Given the description of an element on the screen output the (x, y) to click on. 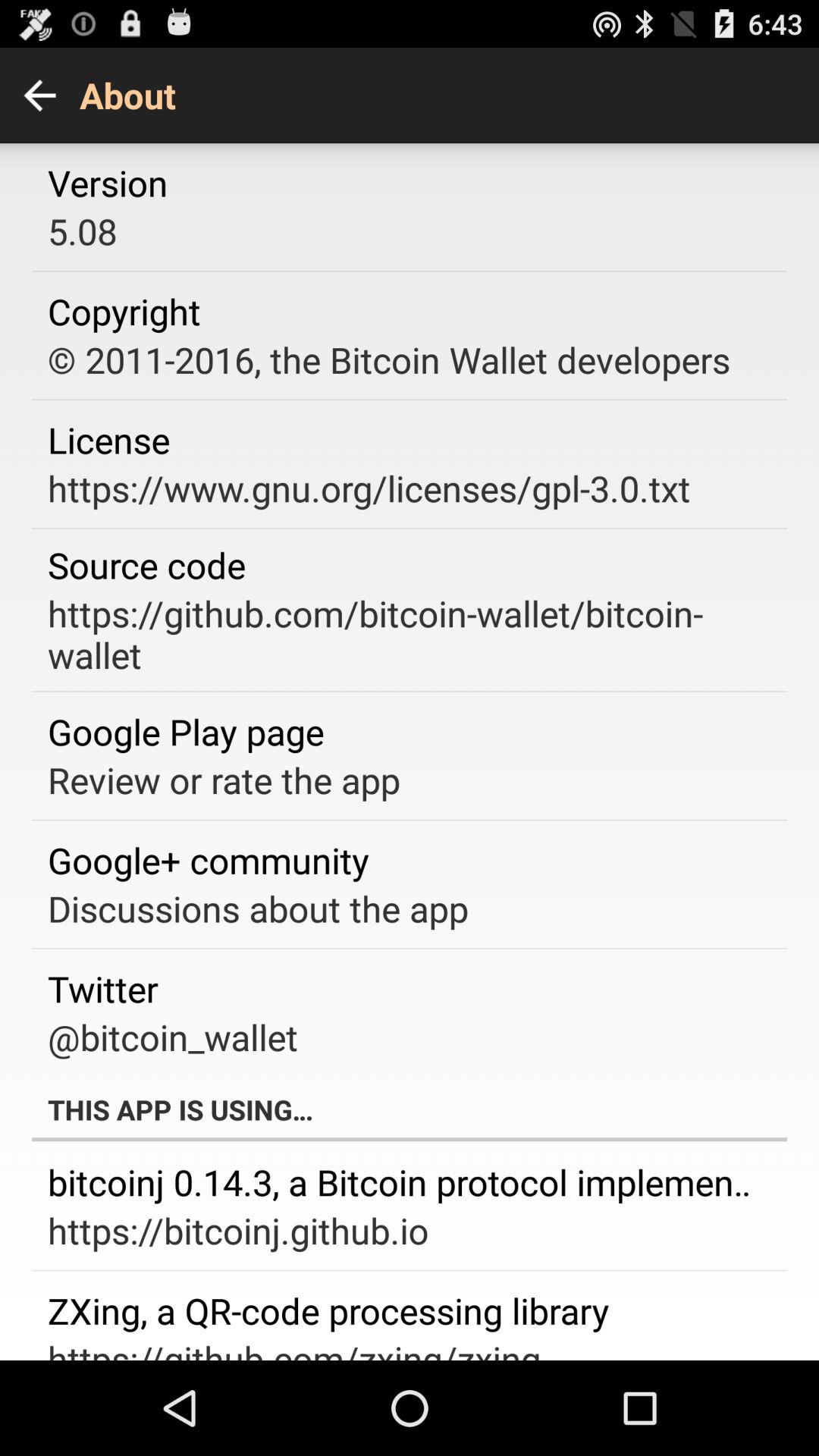
click the app above 5.08 (107, 182)
